Given the description of an element on the screen output the (x, y) to click on. 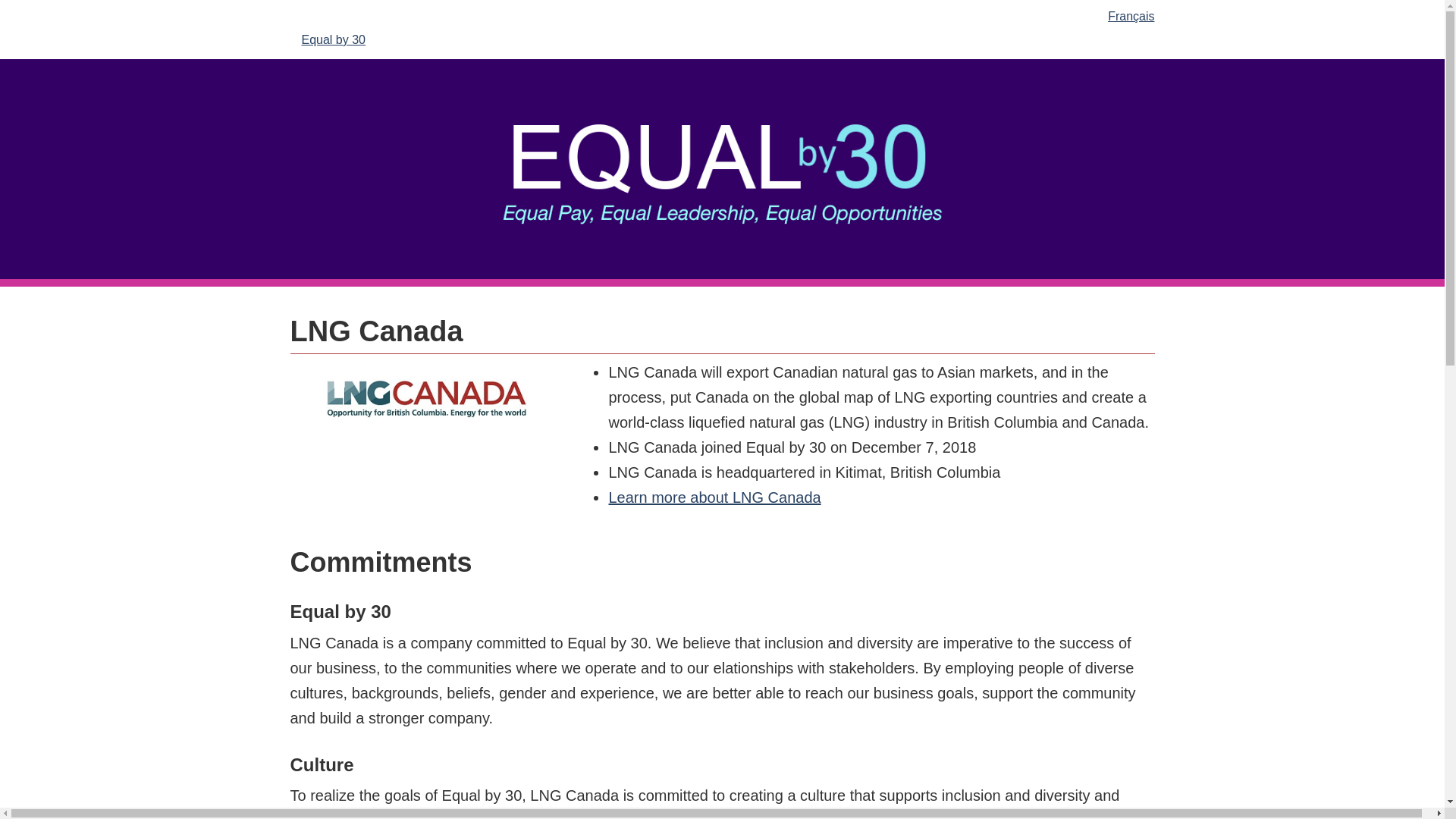
Equal by 30 (337, 39)
Learn more about LNG Canada (714, 497)
Skip to main content (725, 11)
